Given the description of an element on the screen output the (x, y) to click on. 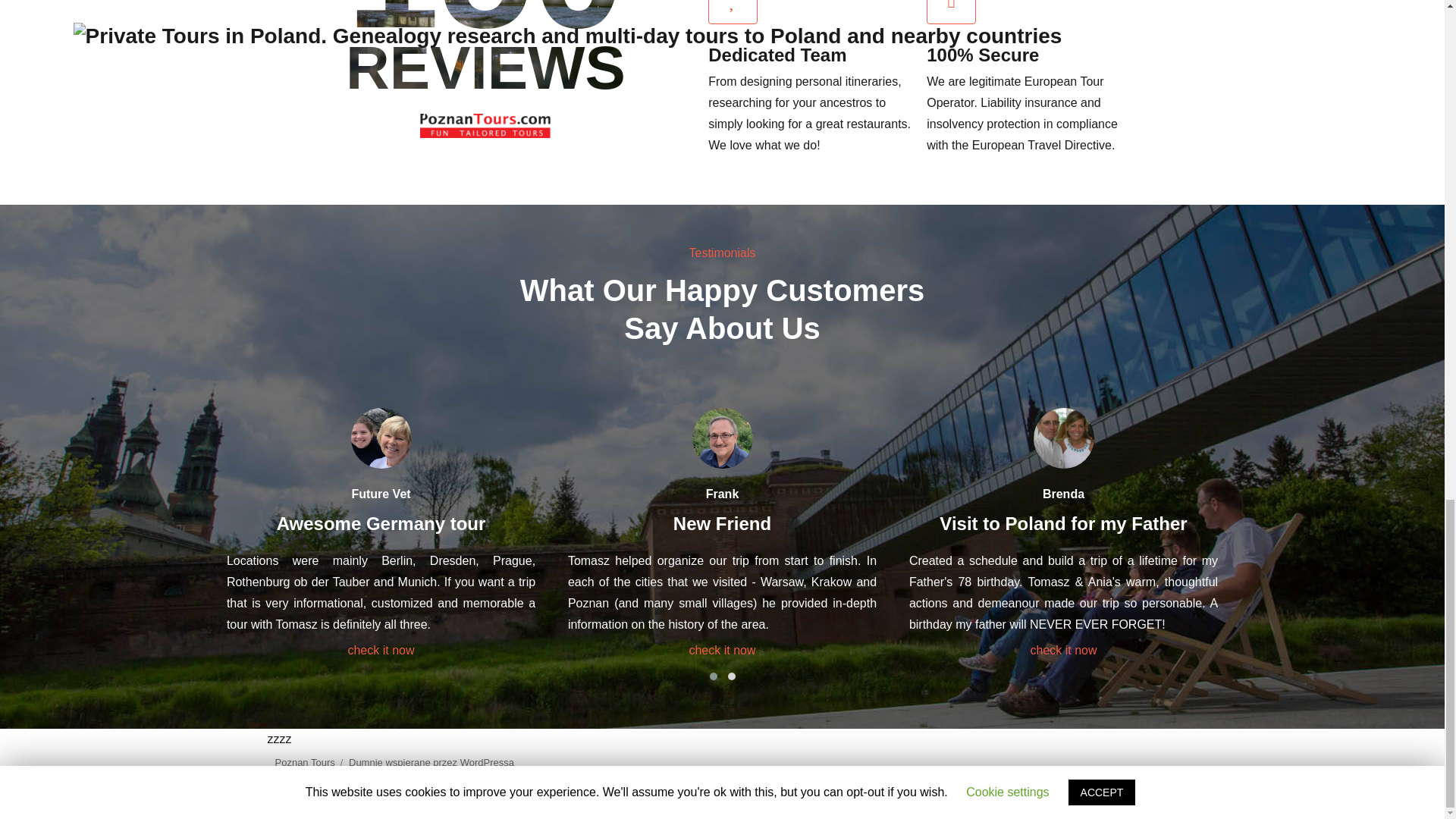
Poznan Tours (304, 762)
Dumnie wspierane przez WordPressa (431, 762)
check it now (721, 649)
check it now (1062, 649)
check it now (380, 649)
